Given the description of an element on the screen output the (x, y) to click on. 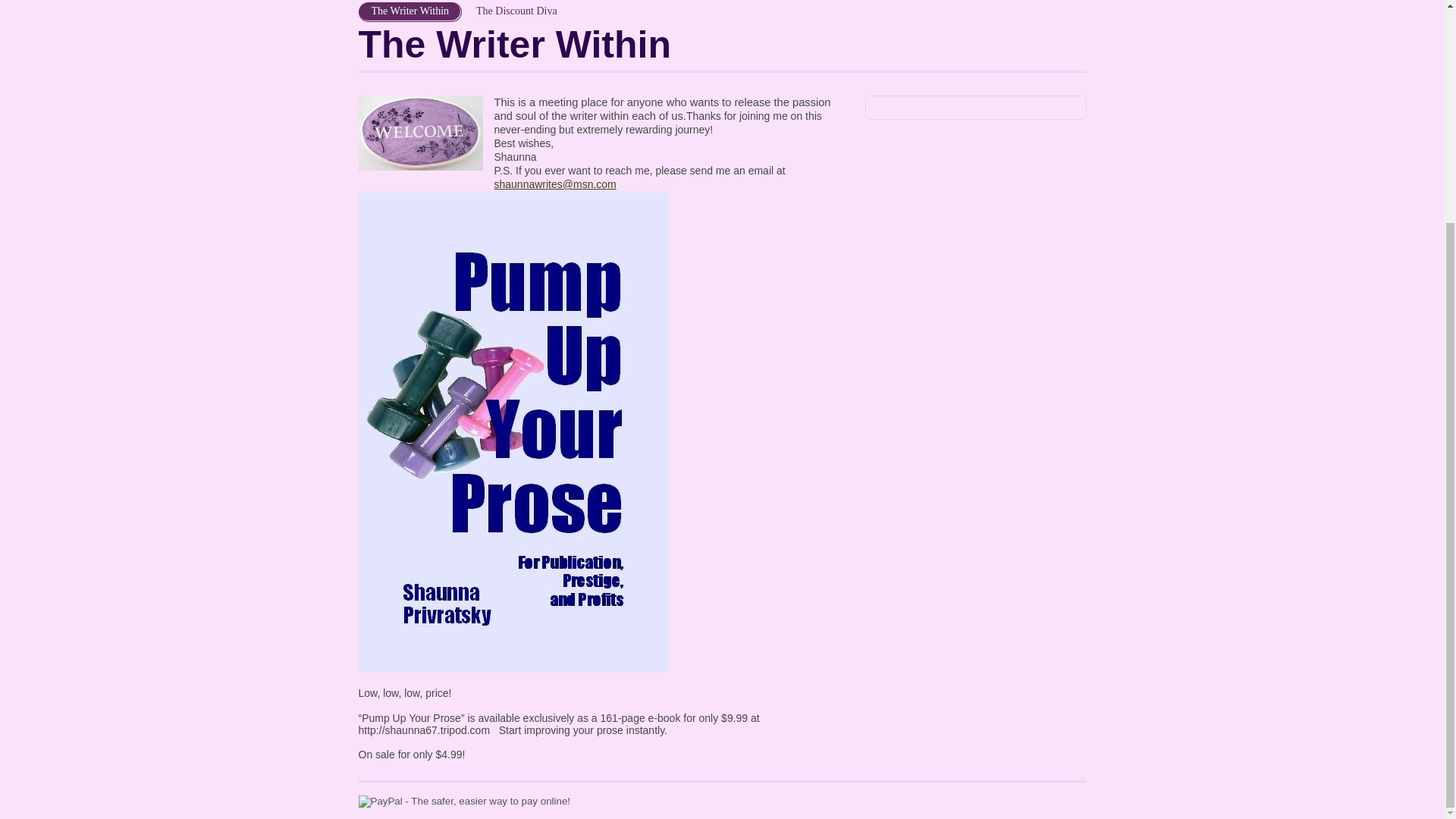
The Writer Within (409, 12)
The Discount Diva (516, 12)
The Discount Diva (516, 12)
The Writer Within (409, 12)
